Given the description of an element on the screen output the (x, y) to click on. 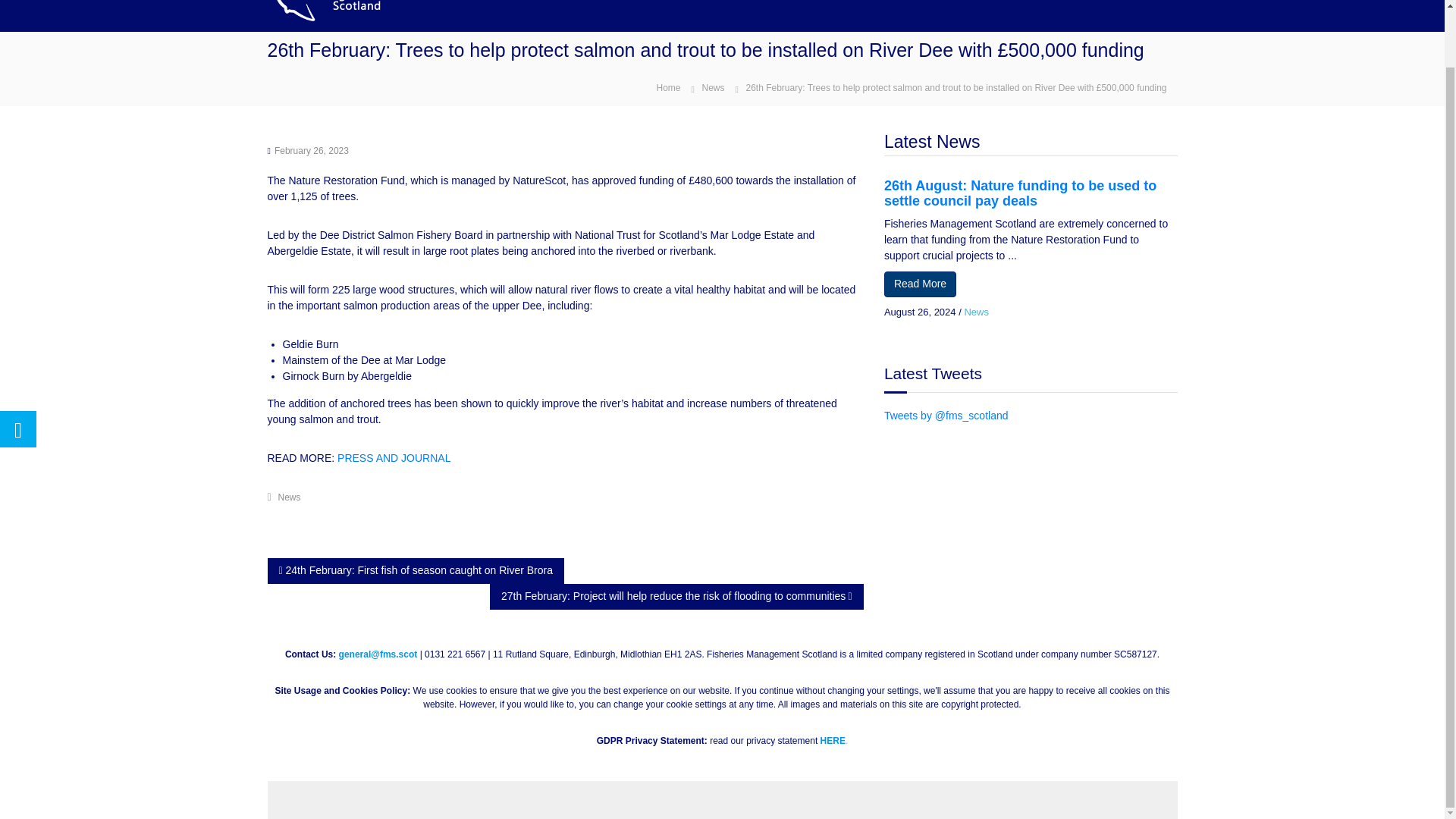
News (712, 87)
News (975, 311)
Read More (919, 284)
News (975, 311)
February 26, 2023 (312, 150)
24th February: First fish of season caught on River Brora (415, 570)
News (289, 497)
Home (667, 87)
